Given the description of an element on the screen output the (x, y) to click on. 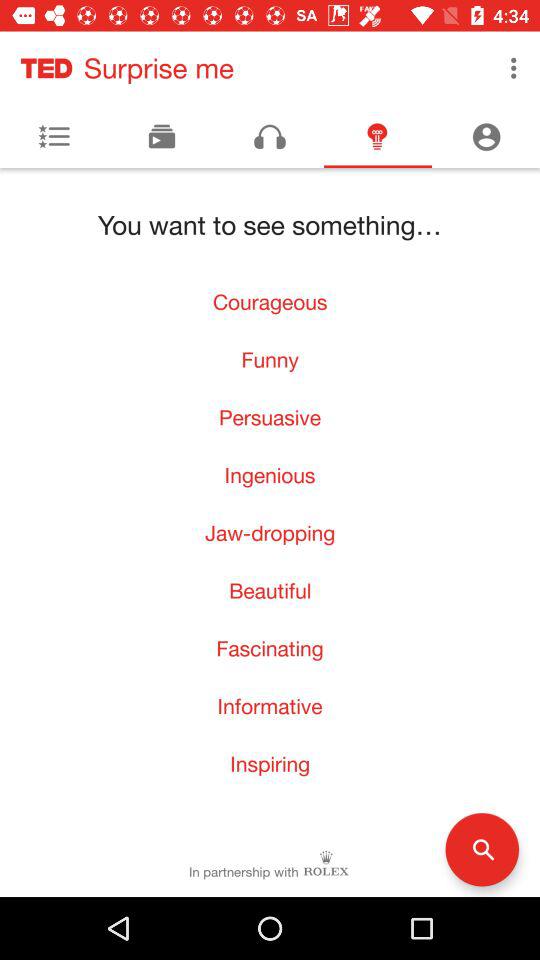
turn on item below funny (270, 417)
